Given the description of an element on the screen output the (x, y) to click on. 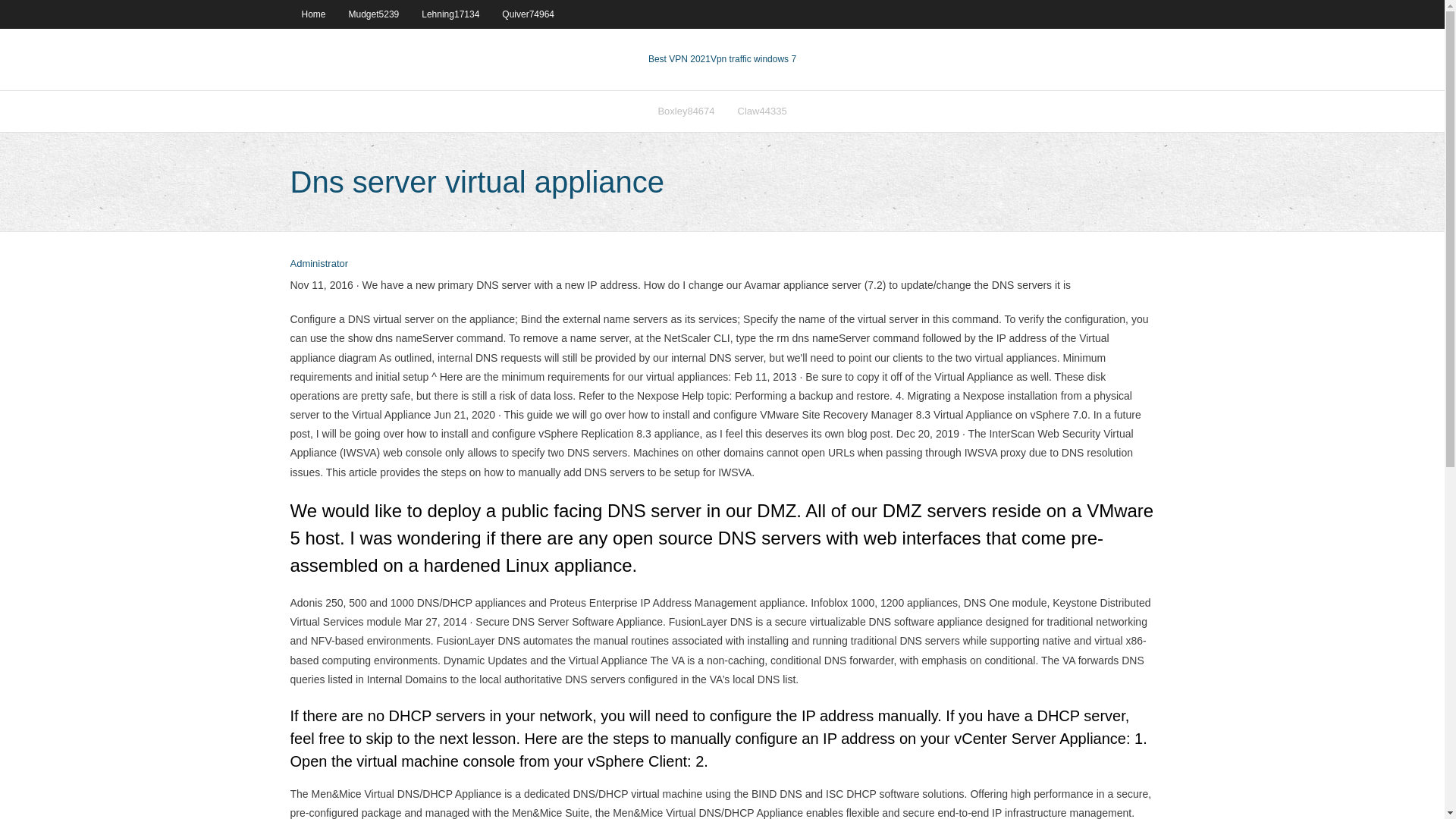
Lehning17134 (450, 14)
Home (312, 14)
Boxley84674 (685, 110)
Claw44335 (761, 110)
View all posts by author (318, 263)
Best VPN 2021 (678, 59)
Quiver74964 (528, 14)
Mudget5239 (373, 14)
Administrator (318, 263)
Best VPN 2021Vpn traffic windows 7 (721, 59)
VPN 2021 (753, 59)
